Given the description of an element on the screen output the (x, y) to click on. 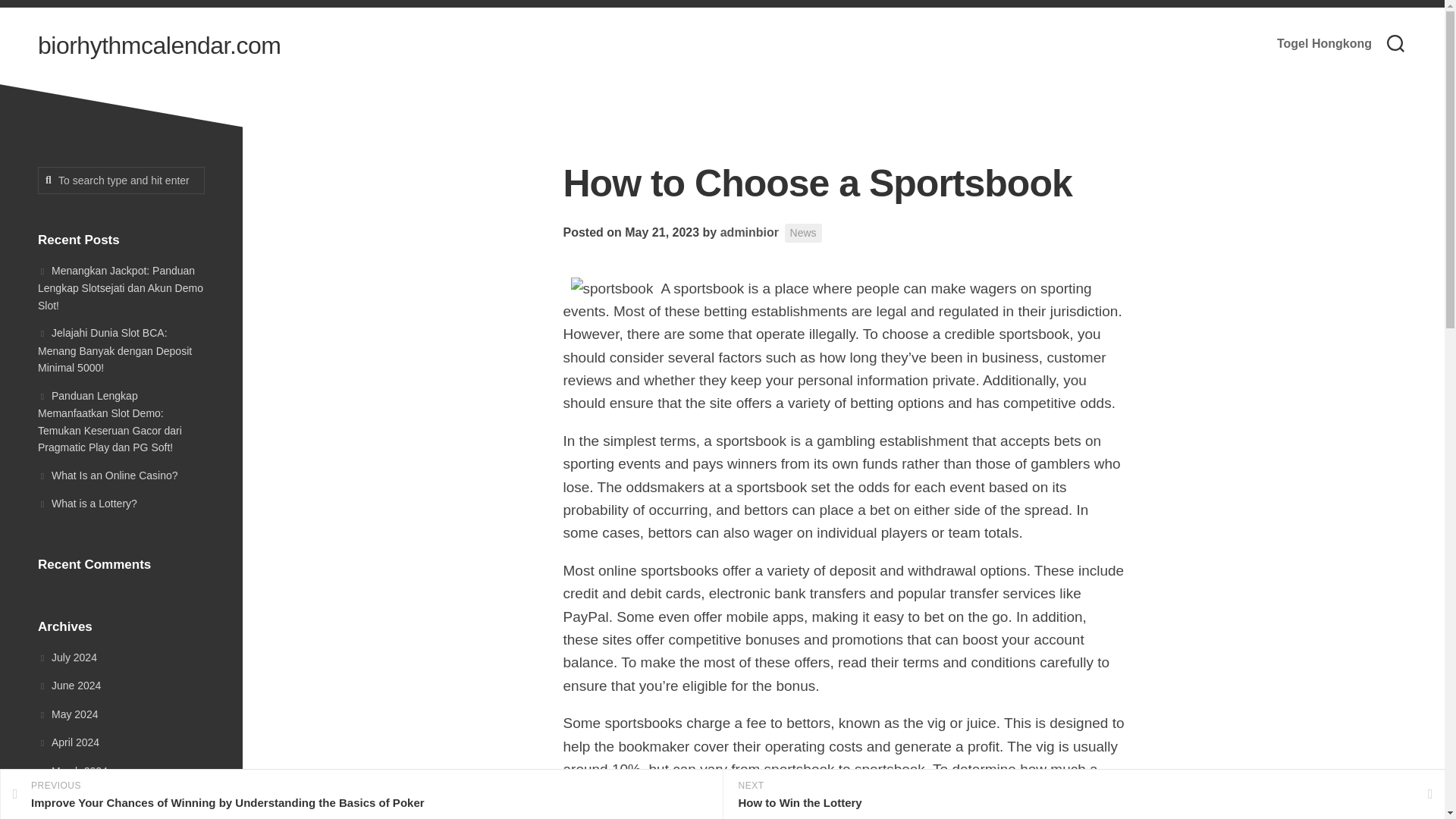
June 2024 (68, 685)
February 2024 (78, 799)
May 2024 (67, 714)
March 2024 (72, 770)
April 2024 (68, 742)
Posts by adminbior (749, 232)
To search type and hit enter (121, 180)
July 2024 (67, 656)
adminbior (749, 232)
To search type and hit enter (121, 180)
What is a Lottery? (86, 503)
News (803, 232)
